Given the description of an element on the screen output the (x, y) to click on. 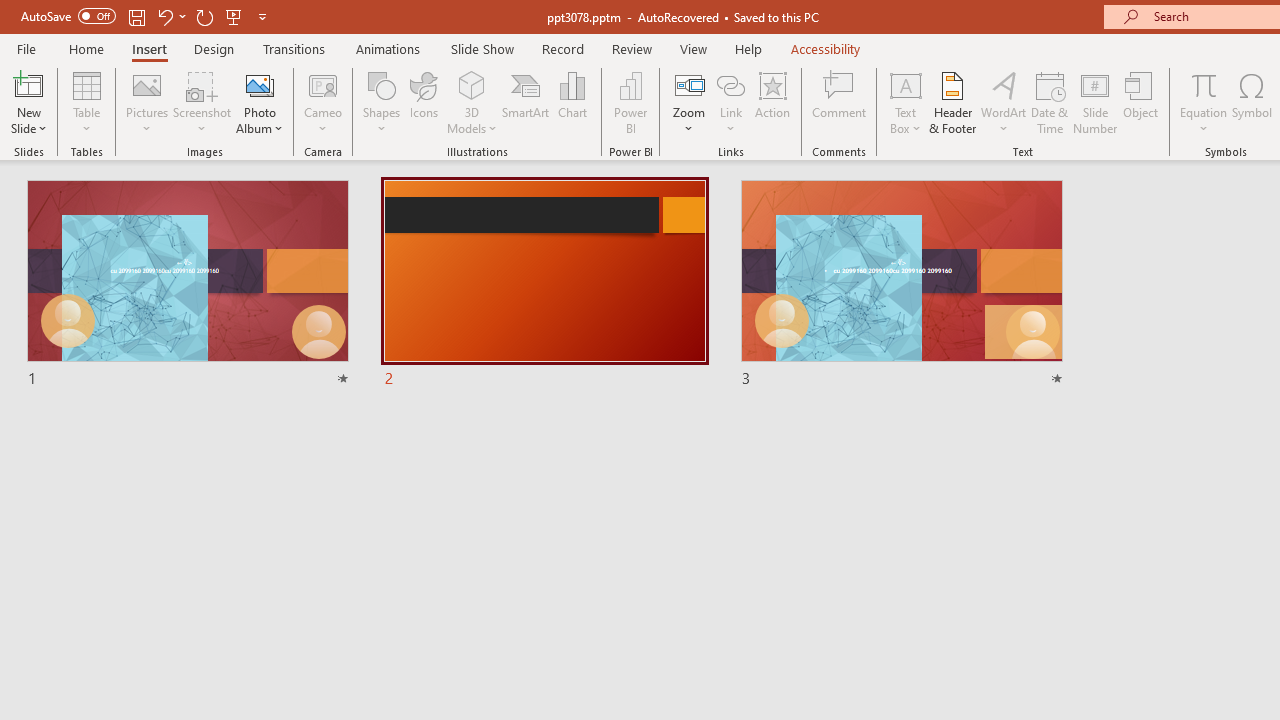
Link (731, 84)
Object... (1141, 102)
View (693, 48)
Cameo (323, 84)
Cameo (323, 102)
Power BI (630, 102)
New Slide (28, 84)
Icons (424, 102)
Insert (149, 48)
Zoom (689, 102)
Date & Time... (1050, 102)
Redo (204, 15)
WordArt (1004, 102)
Comment (839, 102)
